Given the description of an element on the screen output the (x, y) to click on. 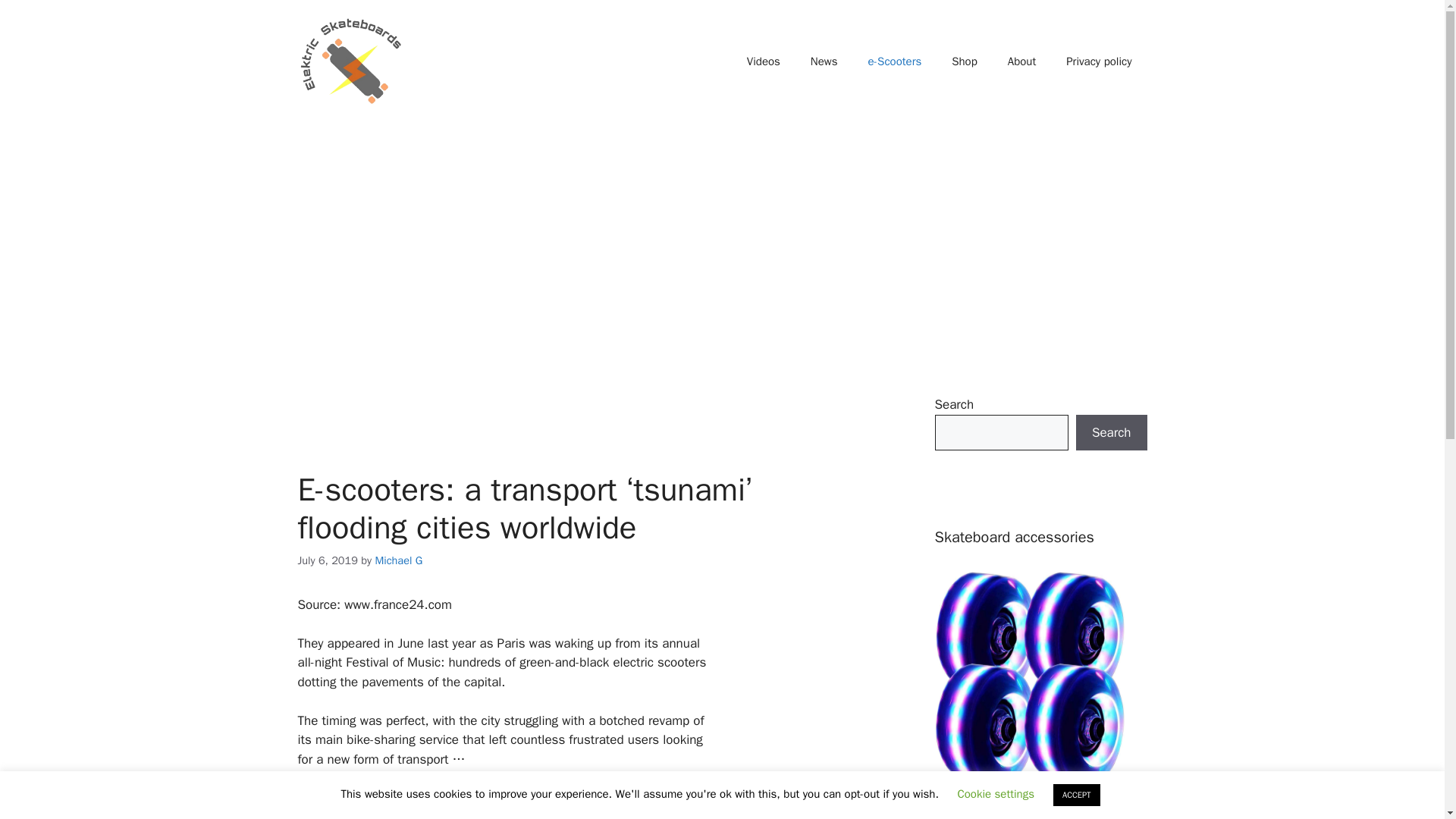
Privacy policy (1099, 61)
Search (1111, 432)
Cookie settings (994, 793)
About (1021, 61)
ACCEPT (1076, 794)
Videos (763, 61)
e-Scooters (895, 61)
View all posts by Michael G (398, 560)
Michael G (398, 560)
Shop (964, 61)
News (823, 61)
